Given the description of an element on the screen output the (x, y) to click on. 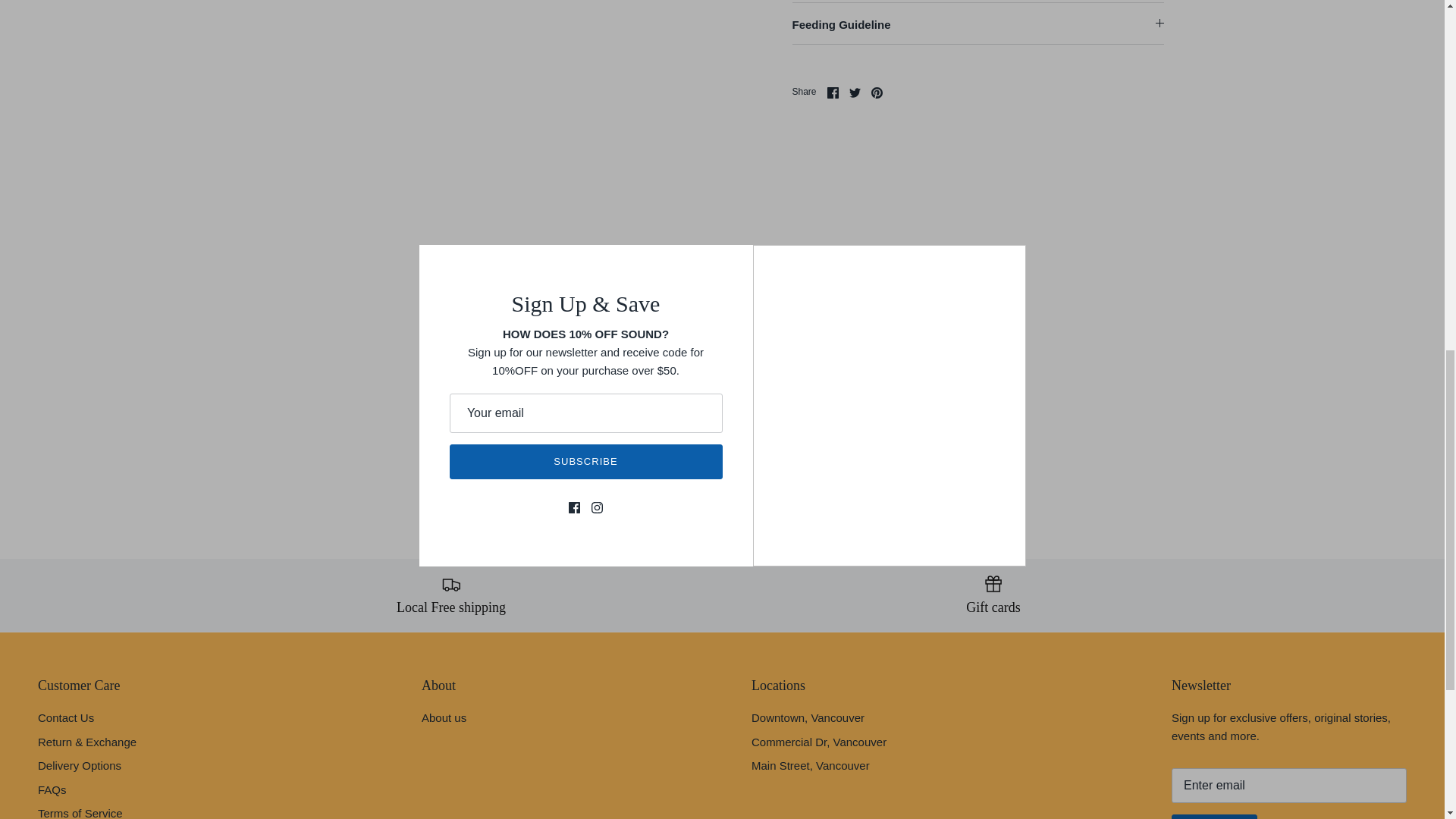
Twitter (854, 92)
Facebook (832, 92)
Pinterest (876, 92)
